Given the description of an element on the screen output the (x, y) to click on. 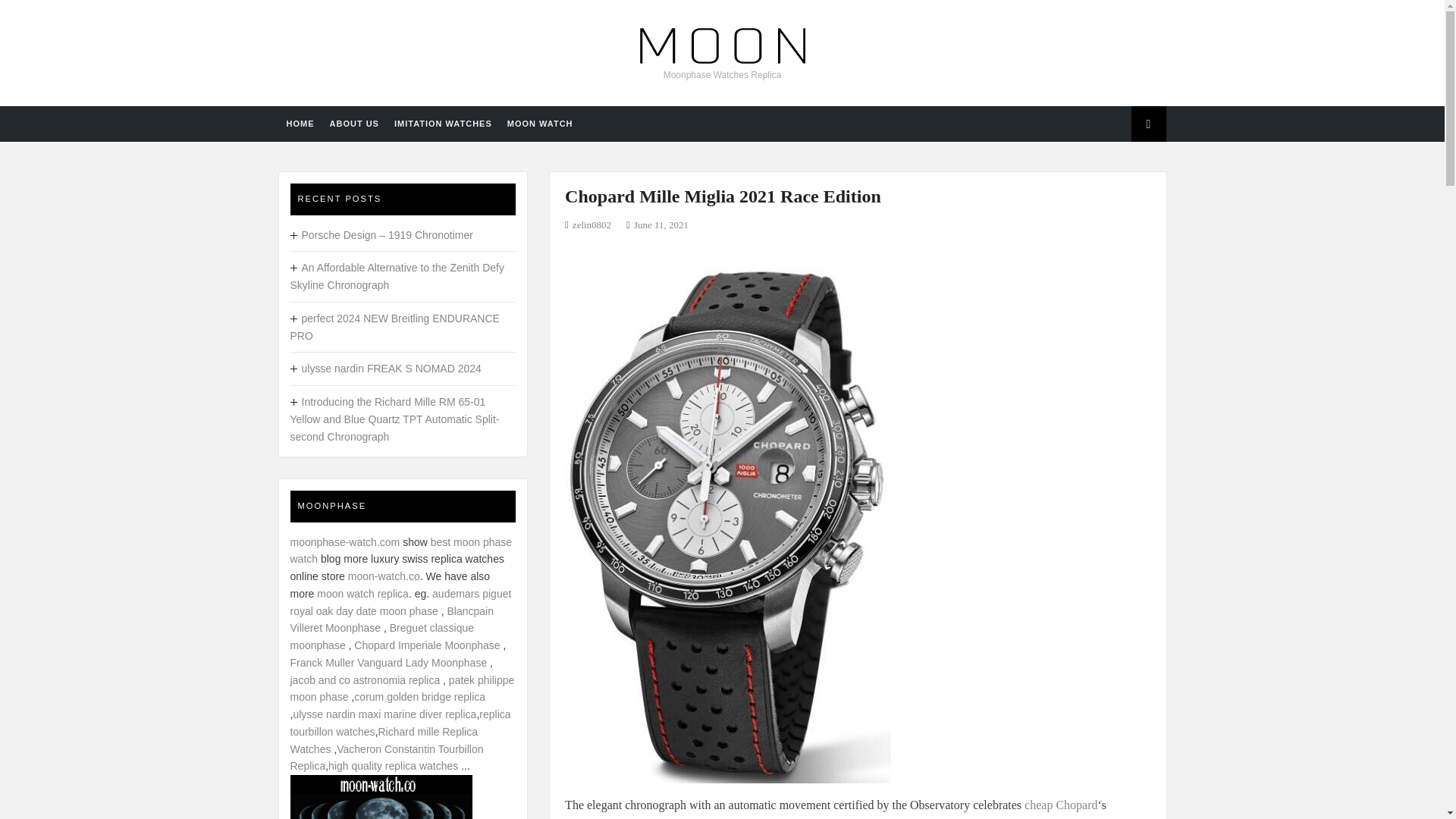
Chopard Mille Miglia 2021 Race Edition (722, 196)
zelin0802 (591, 224)
Blancpain Villeret Moonphase (391, 619)
Vacheron Constantin Tourbillon Replica (386, 757)
June 11, 2021 (660, 224)
moon-watch.co (383, 576)
cheap Chopard (1061, 803)
moon watch replica (363, 593)
patek philippe moon phase (401, 687)
MOON WATCH (539, 124)
perfect 2024 NEW Breitling ENDURANCE PRO (394, 327)
Chopard Imperiale Moonphase (426, 645)
high quality replica watches (393, 766)
Breguet classique moonphase (381, 636)
jacob and co astronomia replica (364, 679)
